Given the description of an element on the screen output the (x, y) to click on. 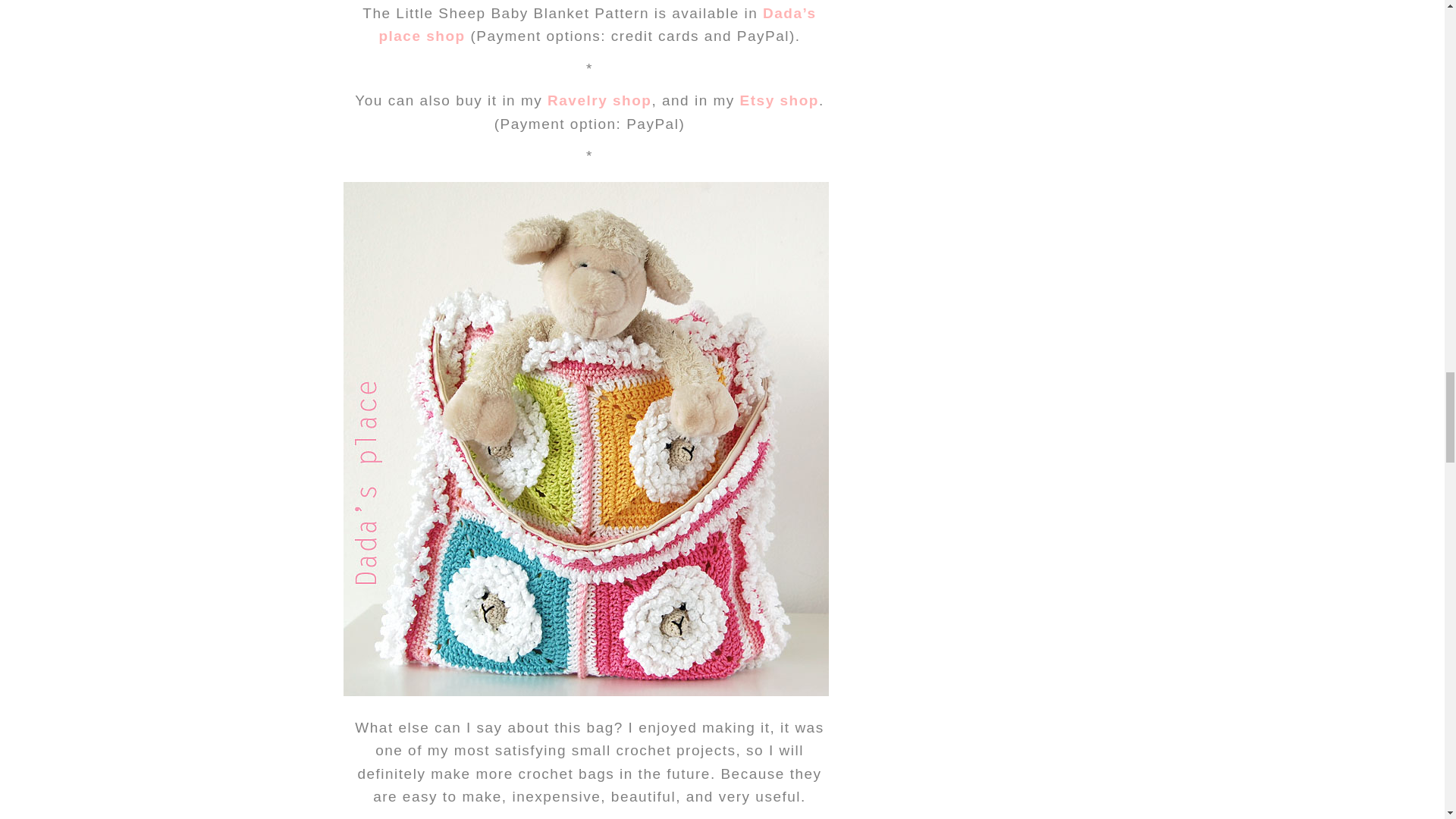
Ravelry shop (598, 100)
Etsy shop (778, 100)
